Given the description of an element on the screen output the (x, y) to click on. 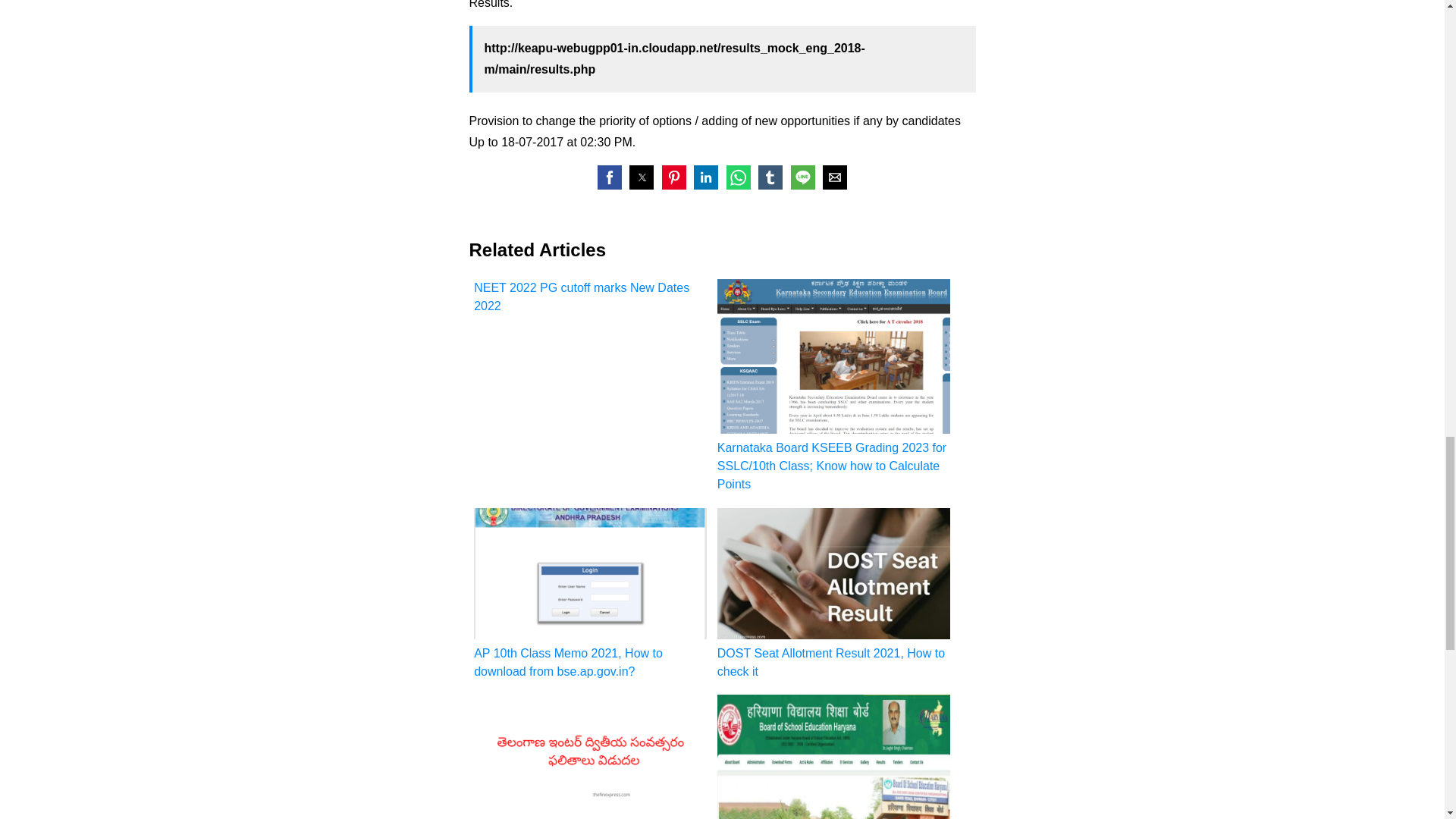
NEET 2022 PG cutoff marks New Dates 2022 (590, 297)
TS Inter 2nd Year Results Declared (590, 756)
AP 10th Class Memo 2021, How to download from bse.ap.gov.in? (590, 593)
DOST Seat Allotment Result 2021, How to check it (833, 593)
